Given the description of an element on the screen output the (x, y) to click on. 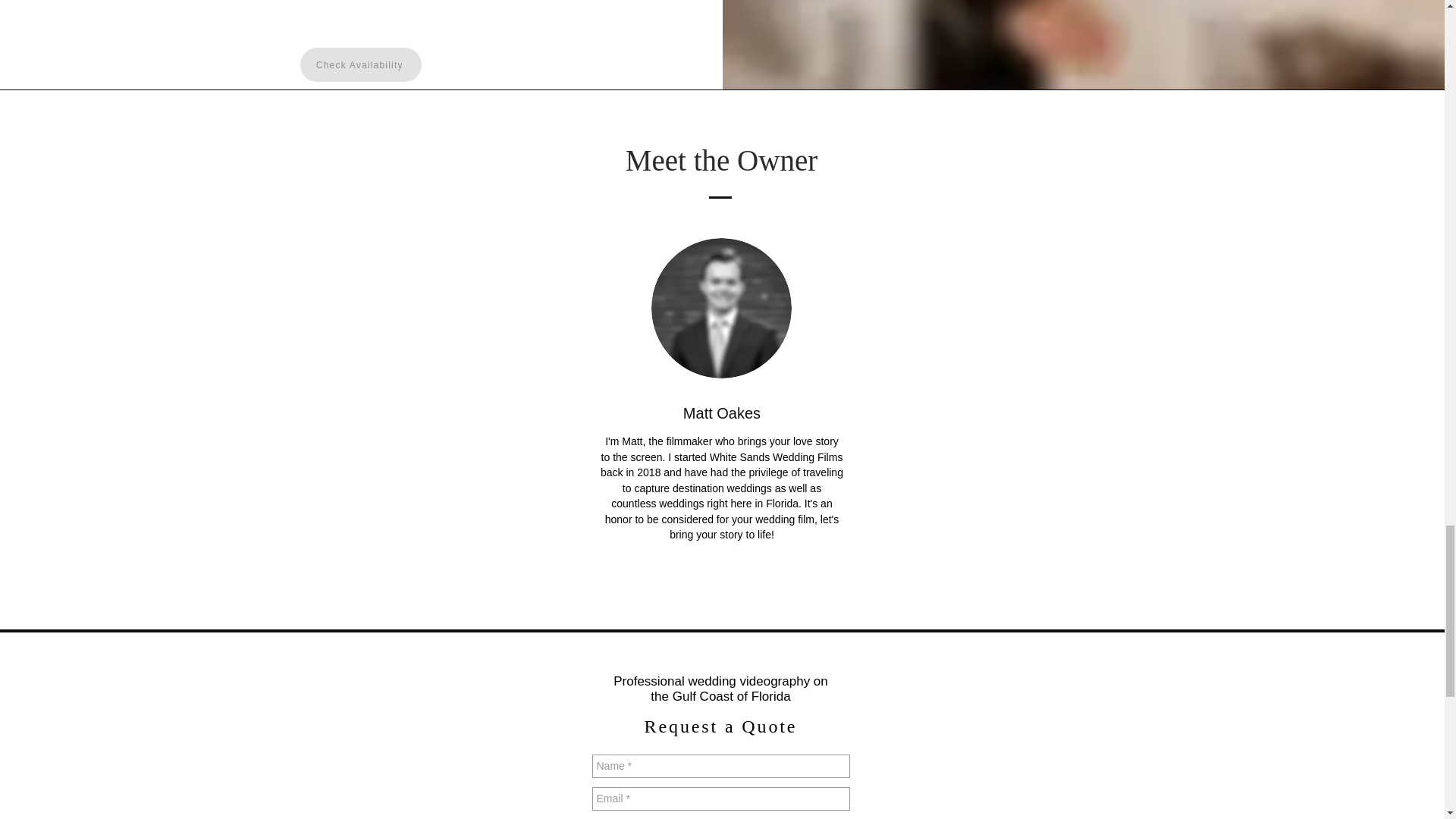
Check Availability (360, 64)
